Given the description of an element on the screen output the (x, y) to click on. 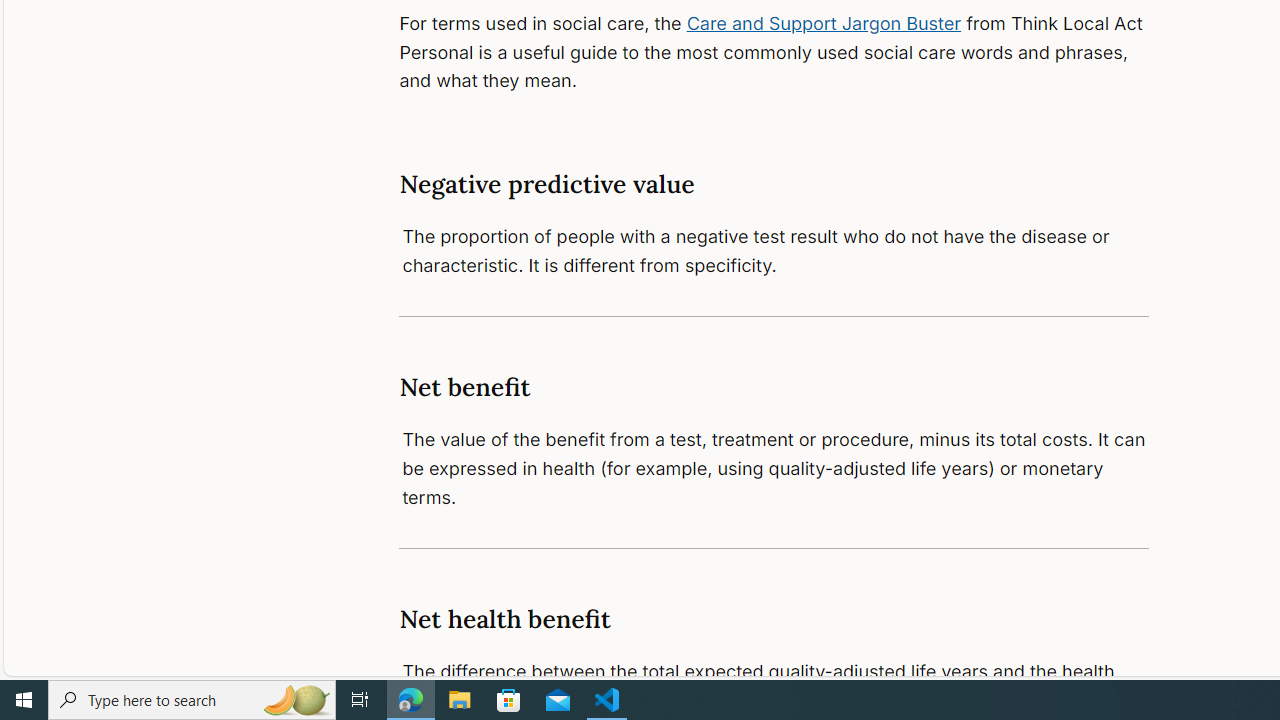
Care and Support Jargon Buster (824, 22)
